Given the description of an element on the screen output the (x, y) to click on. 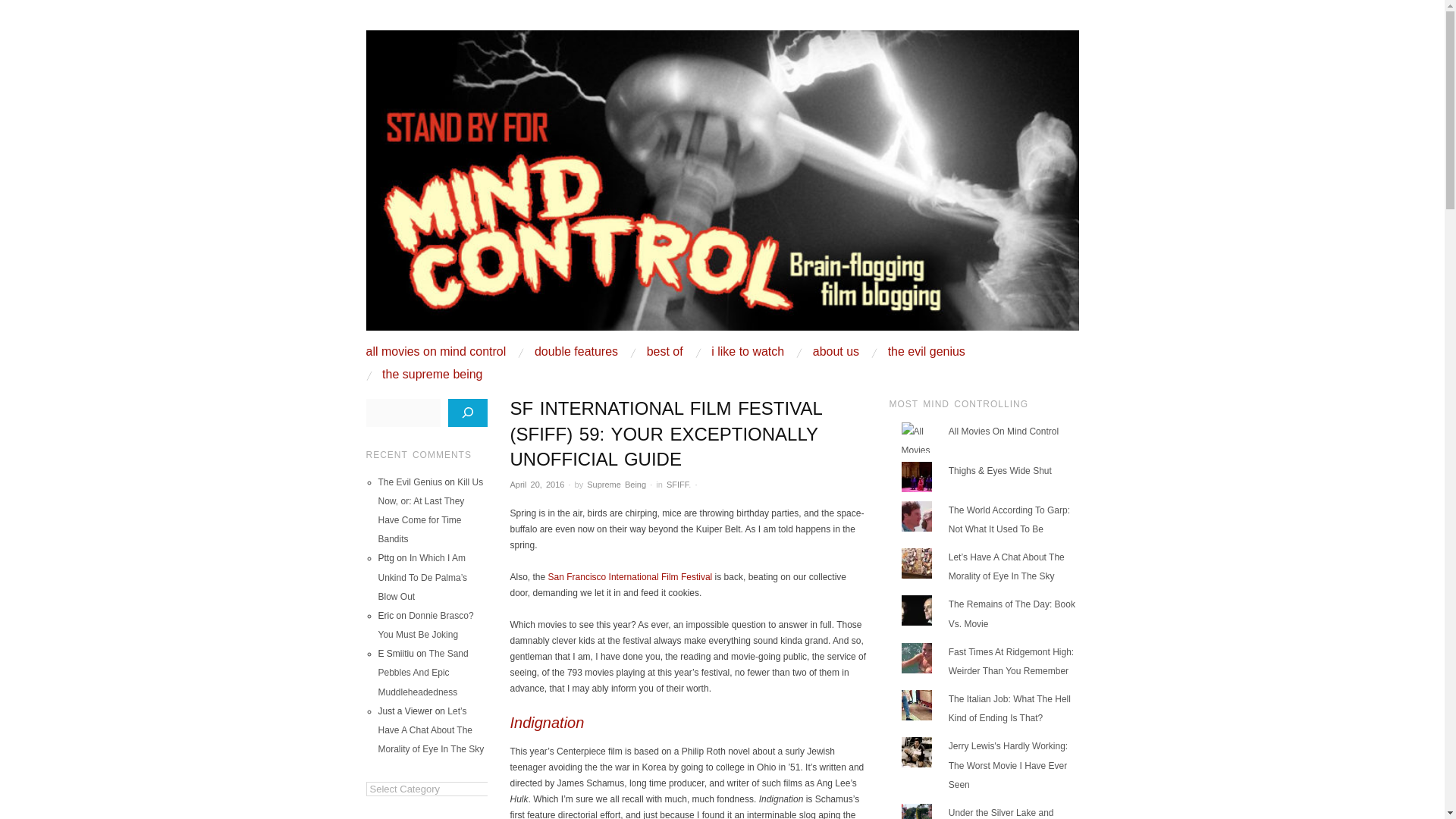
Stand By For Mind Control (721, 186)
STAND BY FOR MIND CONTROL (574, 42)
the supreme being (431, 374)
View all posts by Supreme Being (616, 483)
Skip to content (404, 351)
San Francisco International Film Festival (630, 576)
All Movies On Mind Control (1003, 430)
April 20, 2016 (536, 483)
about us (835, 351)
The Remains of The Day: Book Vs. Movie (1012, 613)
